Given the description of an element on the screen output the (x, y) to click on. 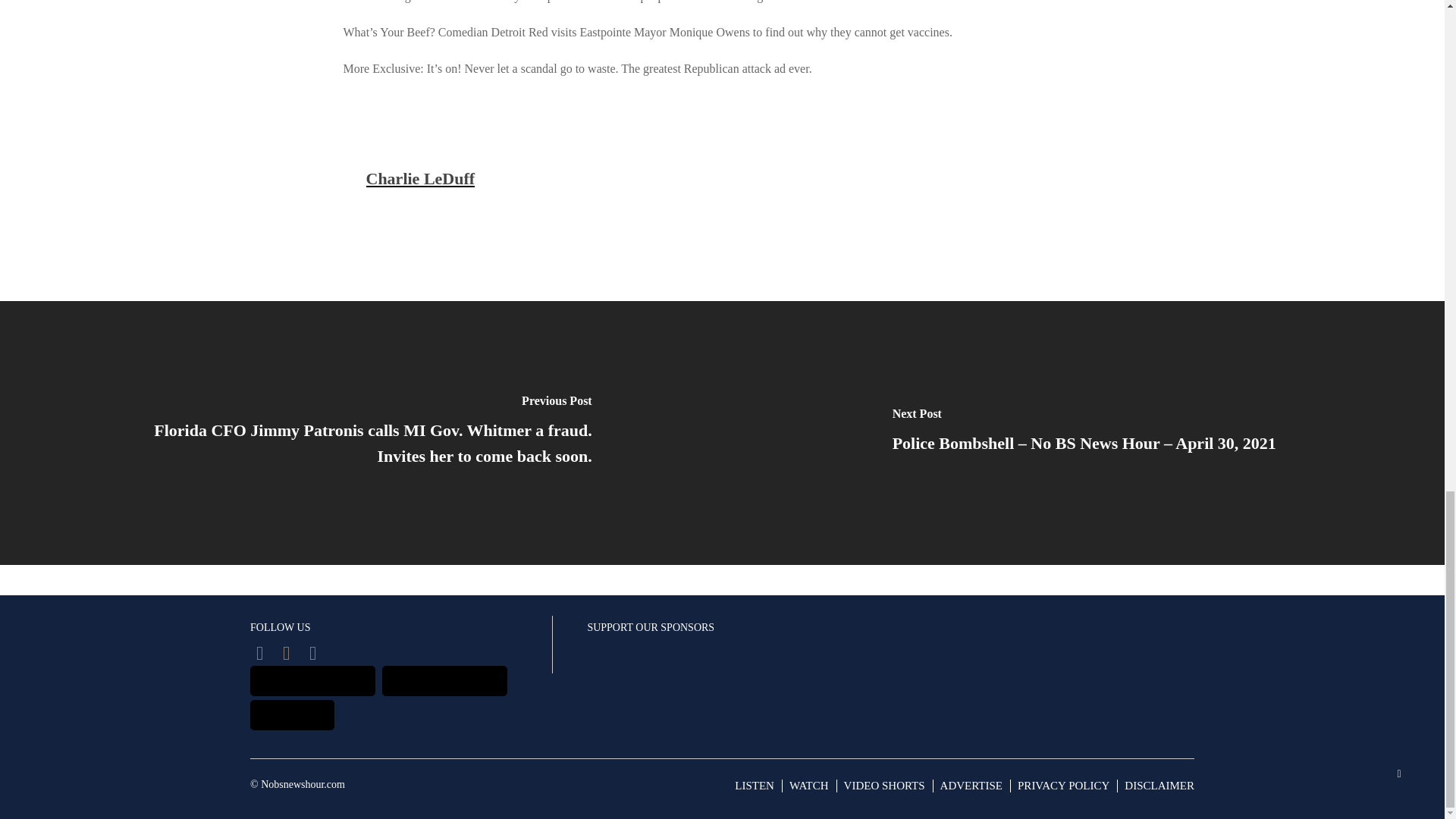
Twitter (285, 652)
LISTEN (754, 786)
twitter (285, 652)
Listen on Apple Podcasts (312, 680)
DISCLAIMER (1158, 786)
Listen on Stitcher (292, 715)
Facebook (259, 652)
VIDEO SHORTS (884, 786)
ADVERTISE (971, 786)
Listen on Google Podcasts (443, 680)
